Given the description of an element on the screen output the (x, y) to click on. 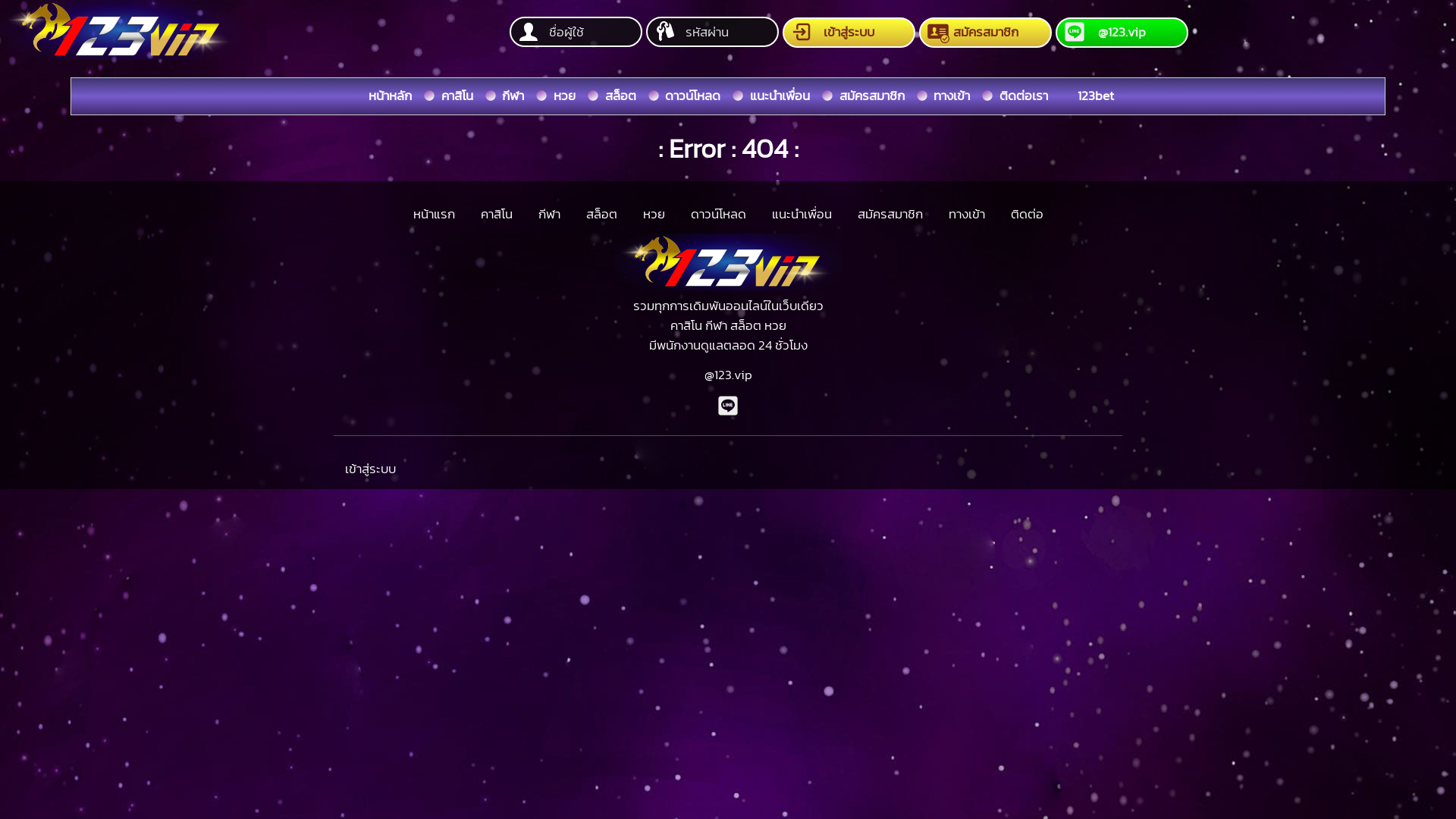
123bet Element type: text (1095, 95)
@123.vip Element type: text (1121, 32)
@123.vip Element type: text (727, 374)
